Given the description of an element on the screen output the (x, y) to click on. 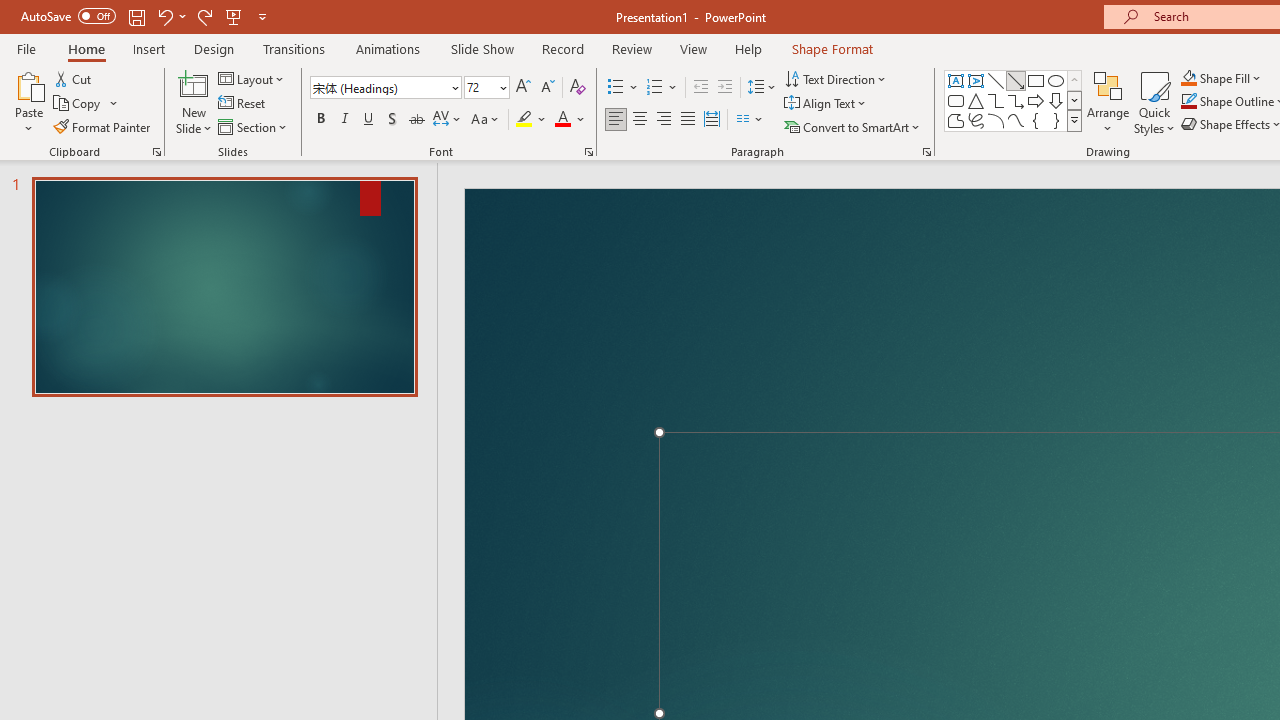
Arc (995, 120)
Oval (1055, 80)
Rectangle: Rounded Corners (955, 100)
Distributed (712, 119)
Shape Fill (1221, 78)
Freeform: Scribble (975, 120)
Vertical Text Box (975, 80)
Change Case (486, 119)
Paste (28, 102)
Shapes (1074, 120)
Line Spacing (762, 87)
